Given the description of an element on the screen output the (x, y) to click on. 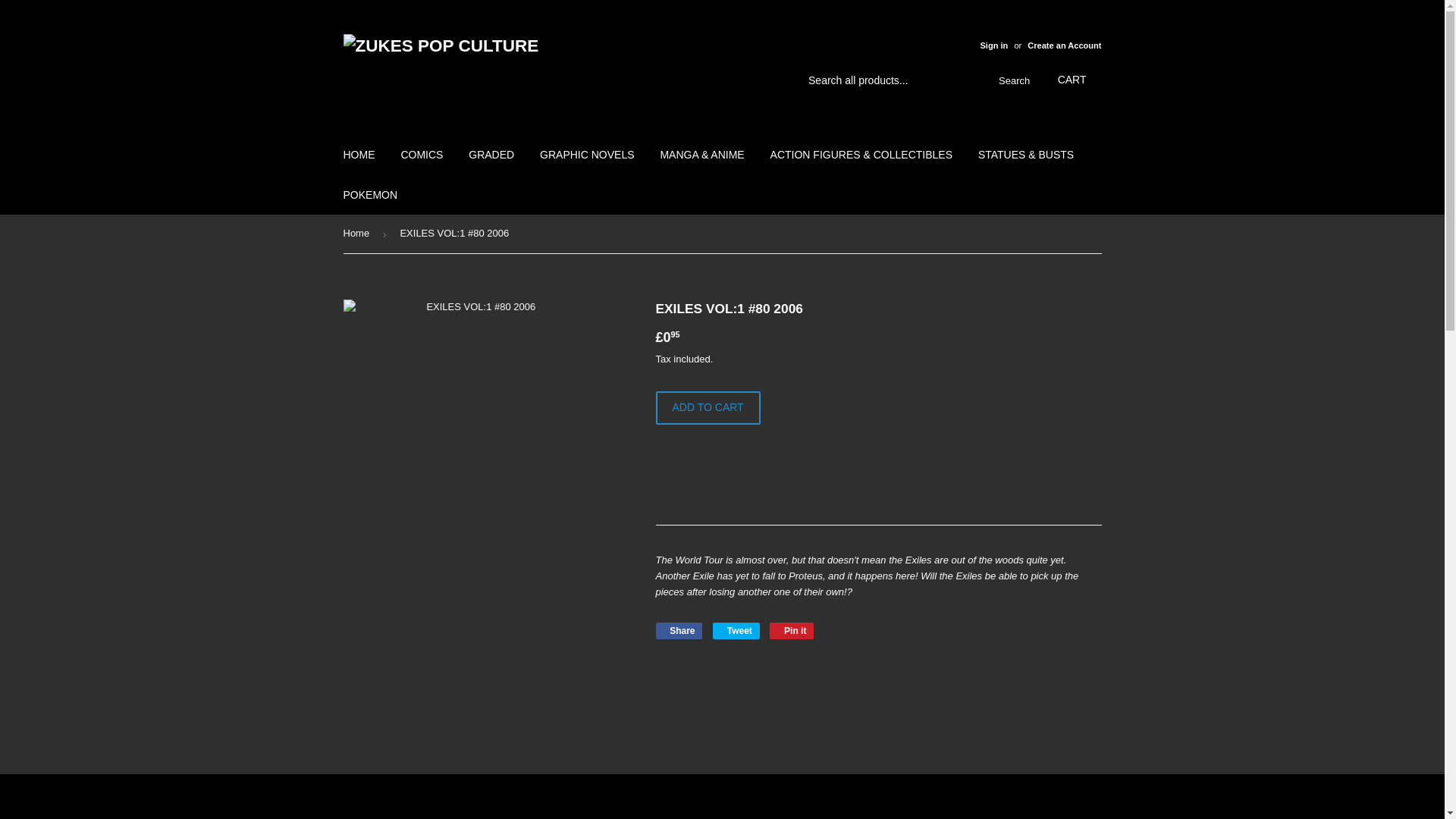
CART (1072, 80)
Search (1010, 81)
Share on Facebook (678, 630)
Tweet on Twitter (736, 630)
Create an Account (1063, 44)
Pin on Pinterest (791, 630)
Sign in (993, 44)
